Given the description of an element on the screen output the (x, y) to click on. 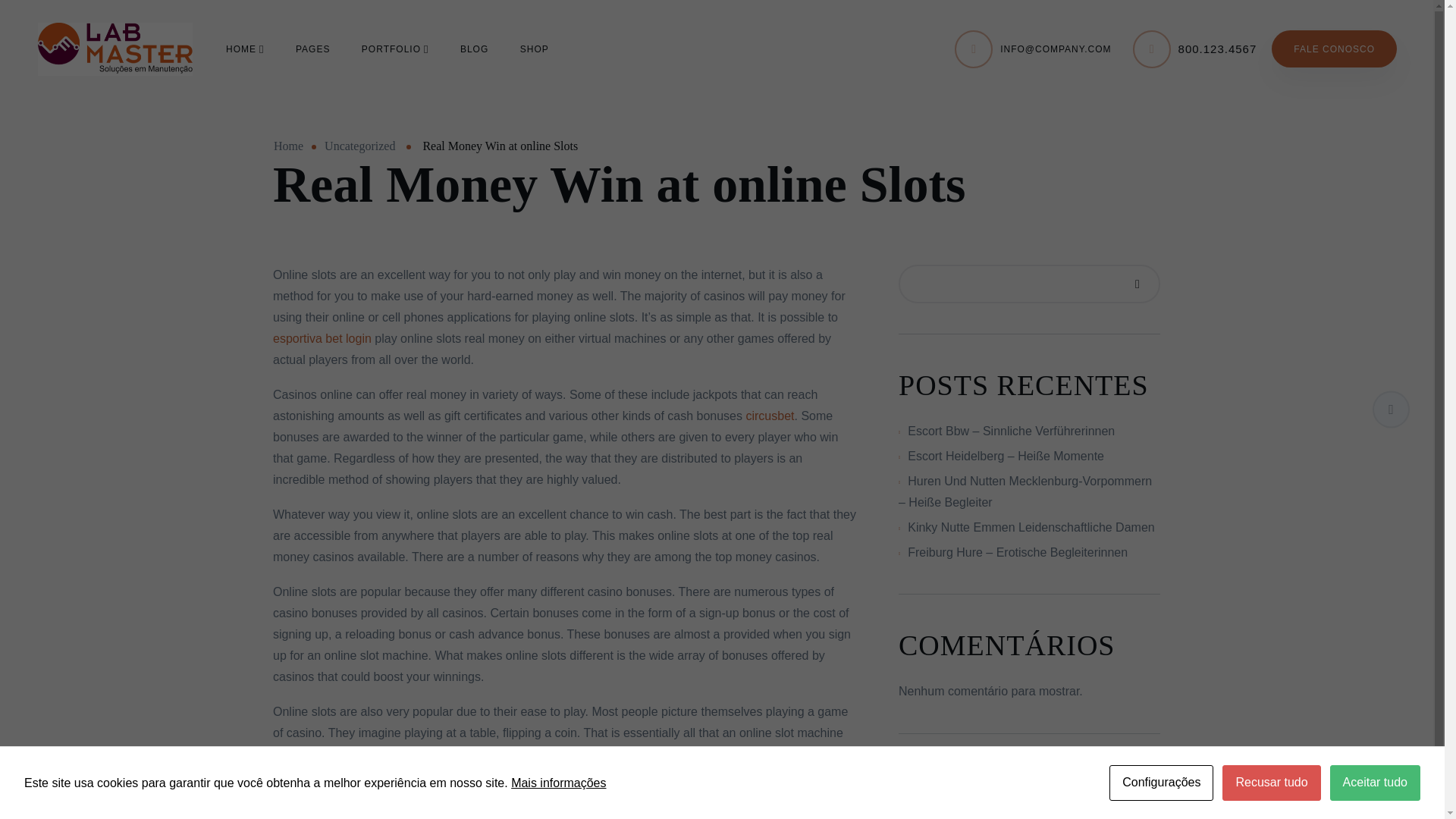
800.123.4567 (1217, 48)
FALE CONOSCO (1333, 48)
esportiva bet login (322, 338)
Kinky Nutte Emmen Leidenschaftliche Damen (1030, 526)
PORTFOLIO (395, 48)
lab (114, 49)
SHOP (533, 48)
HOME (244, 48)
BLOG (473, 48)
PAGES (312, 48)
circusbet (769, 415)
Home (288, 145)
Uncategorized (359, 145)
